Given the description of an element on the screen output the (x, y) to click on. 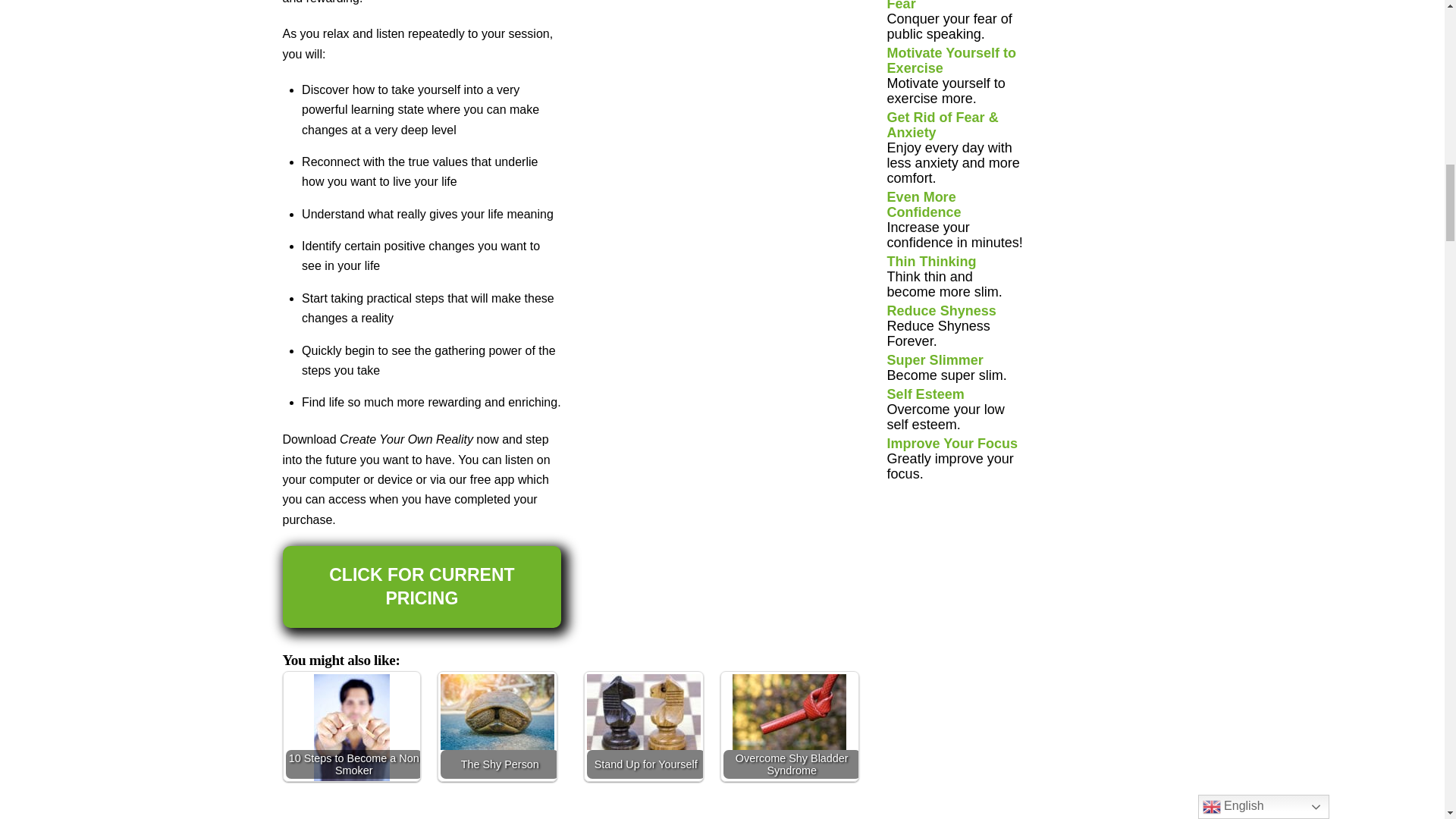
The Shy Person (497, 712)
Stand Up for Yourself (643, 712)
Overcome Shy Bladder Syndrome (788, 712)
